Given the description of an element on the screen output the (x, y) to click on. 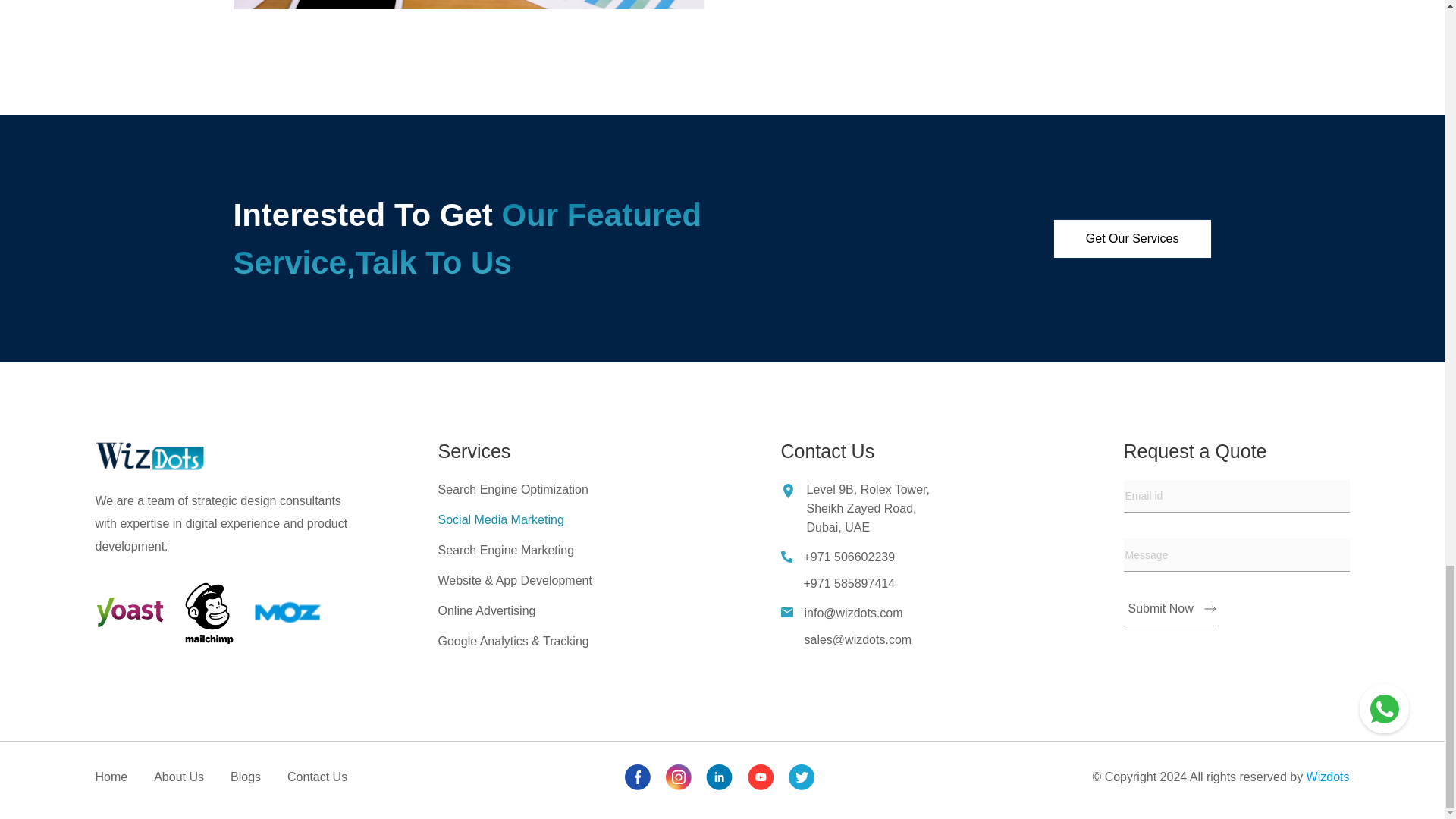
Search Engine Optimization (513, 489)
Get Our Services (1132, 237)
Get Our Services (1132, 237)
Online Advertising (486, 610)
Social Media Marketing (501, 519)
Search Engine Marketing (506, 549)
Submit Now (1169, 612)
